Given the description of an element on the screen output the (x, y) to click on. 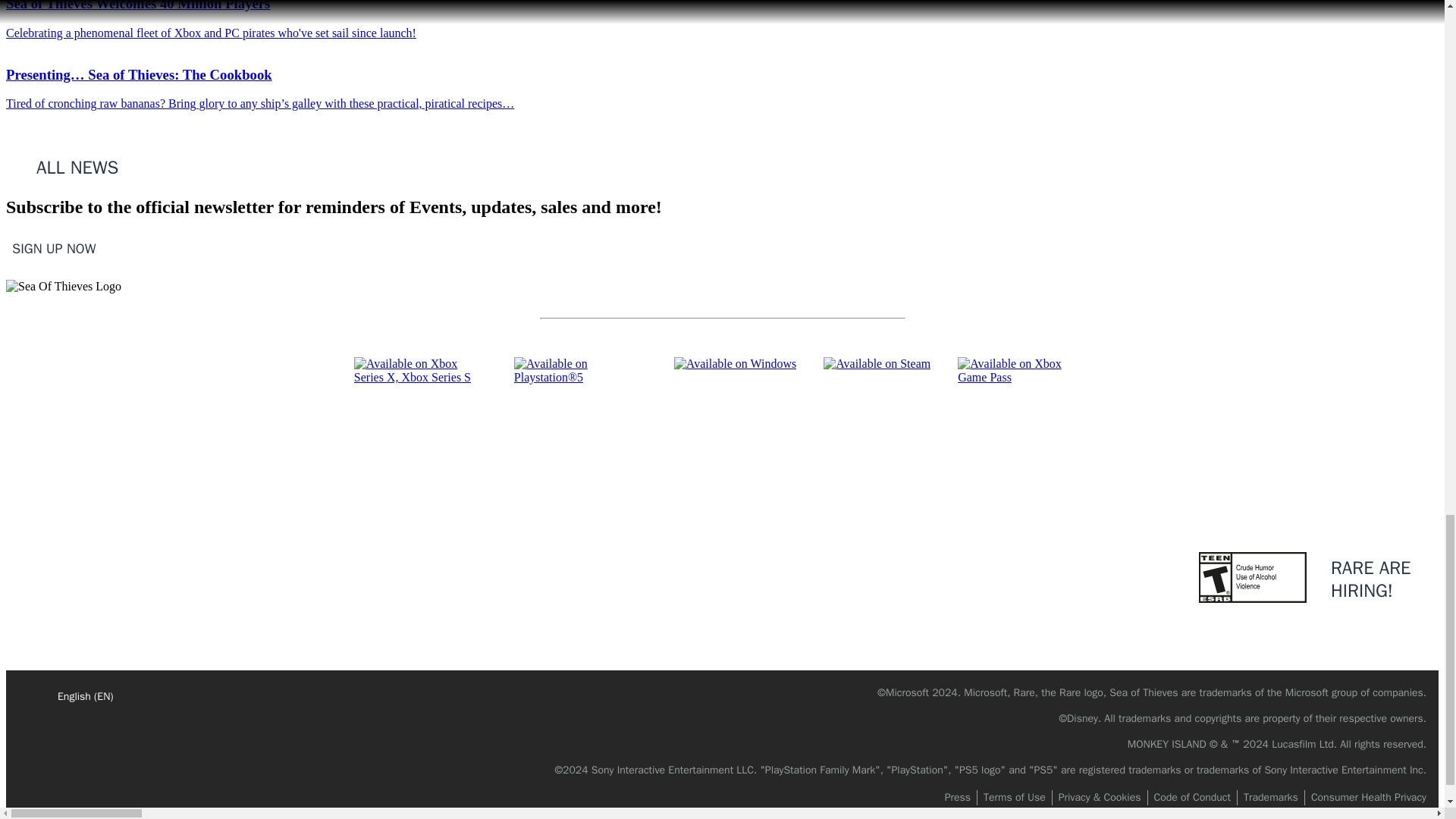
Youtube (739, 455)
ALL NEWS (68, 165)
SIGN UP NOW (53, 246)
